Given the description of an element on the screen output the (x, y) to click on. 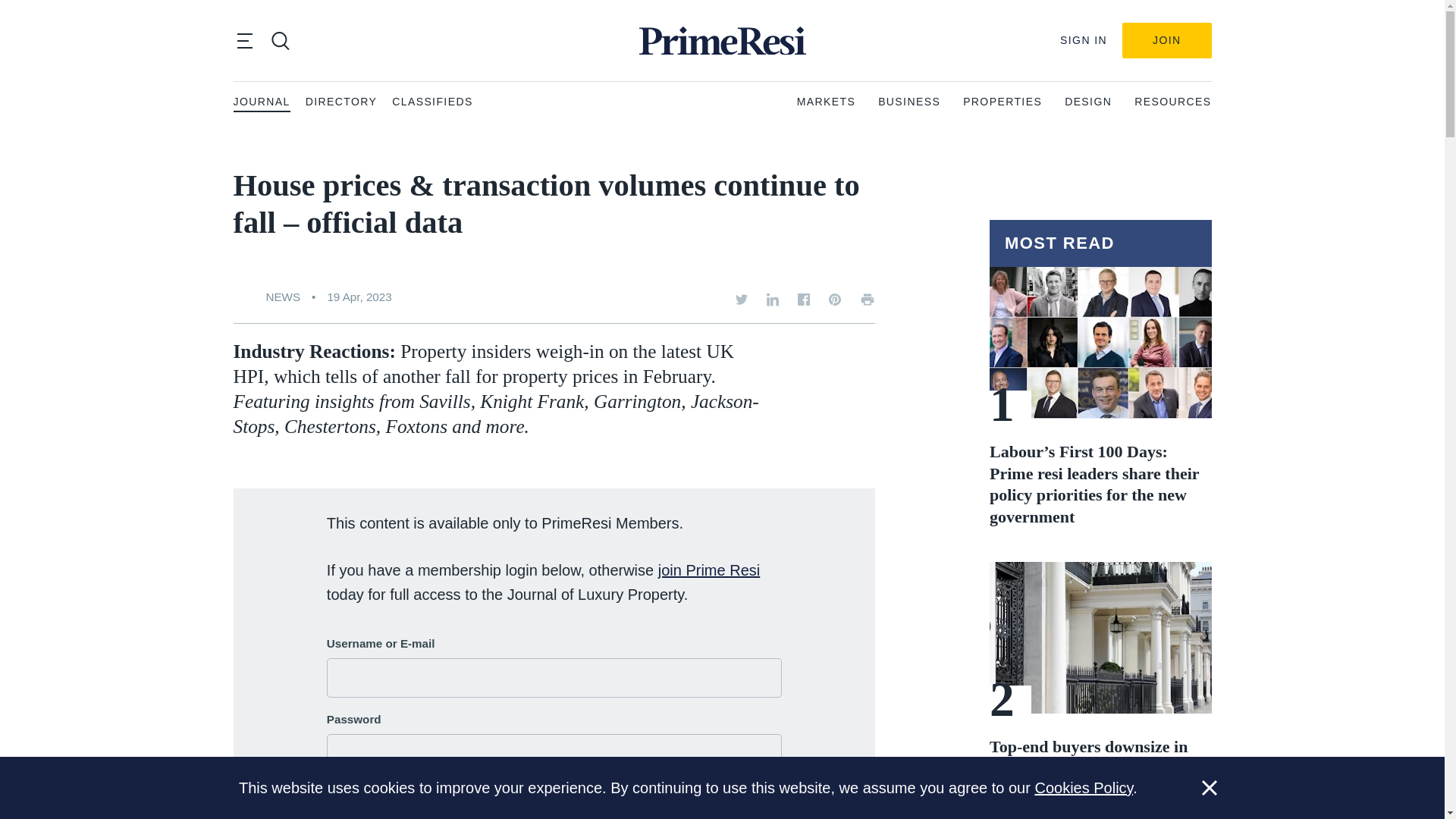
Join (1166, 40)
CLASSIFIEDS (431, 101)
Print (867, 299)
RESOURCES (1172, 101)
forever (334, 789)
SIGN IN (1082, 40)
MARKETS (826, 101)
DIRECTORY (341, 101)
JOURNAL (260, 101)
JOIN (1166, 40)
PROPERTIES (1002, 101)
BUSINESS (908, 101)
DESIGN (1088, 101)
